Given the description of an element on the screen output the (x, y) to click on. 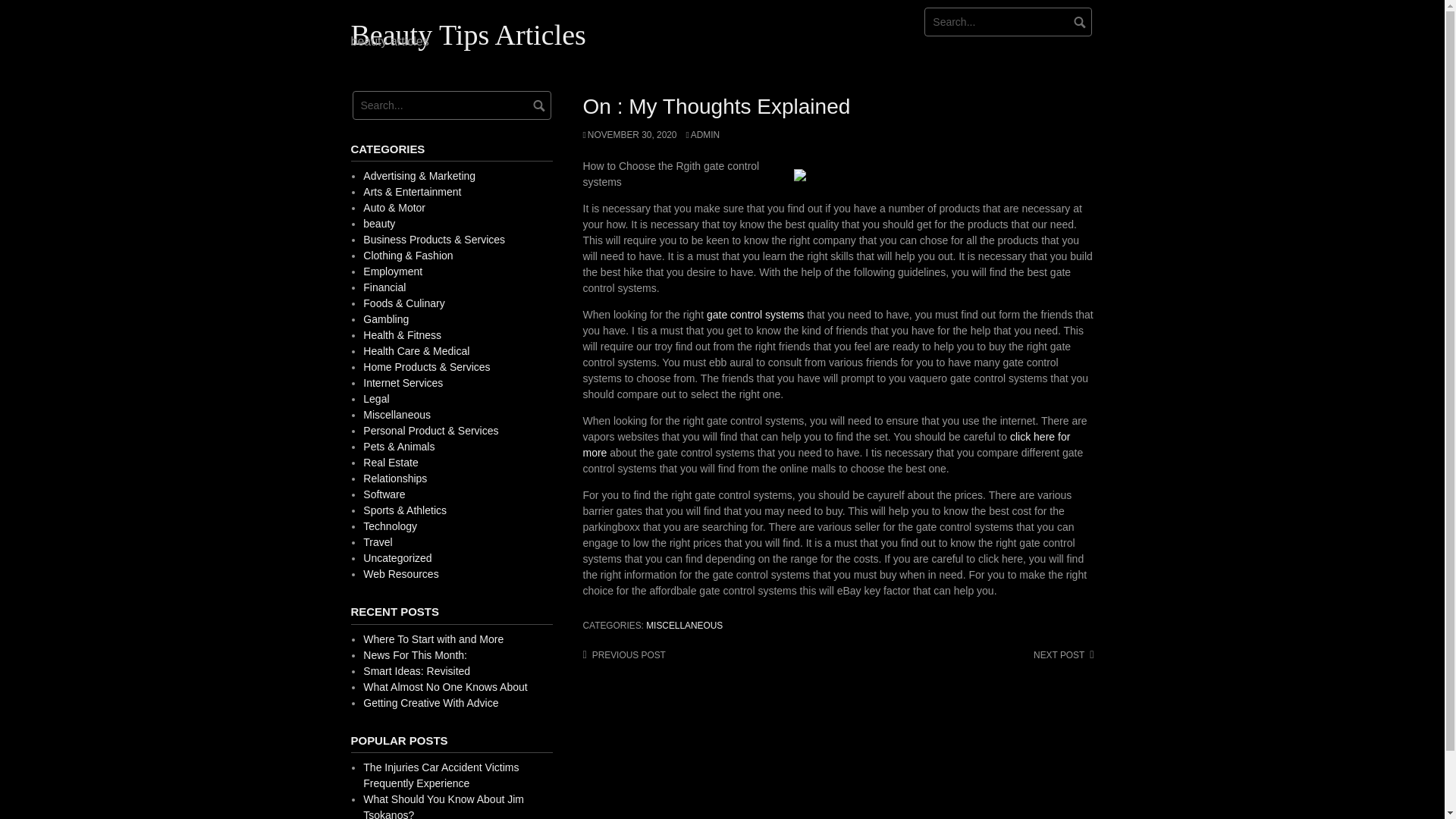
Search for: (1008, 21)
Real Estate (389, 462)
Beauty Tips Articles (467, 34)
beauty (378, 223)
PREVIOUS POST (623, 655)
Search for: (451, 104)
Relationships (394, 478)
NEXT POST (1063, 655)
Technology (389, 526)
What Should You Know About Jim Tsokanos? (443, 806)
ADMIN (702, 134)
Internet Services (402, 382)
Web Resources (400, 573)
Financial (384, 287)
Software (383, 494)
